Given the description of an element on the screen output the (x, y) to click on. 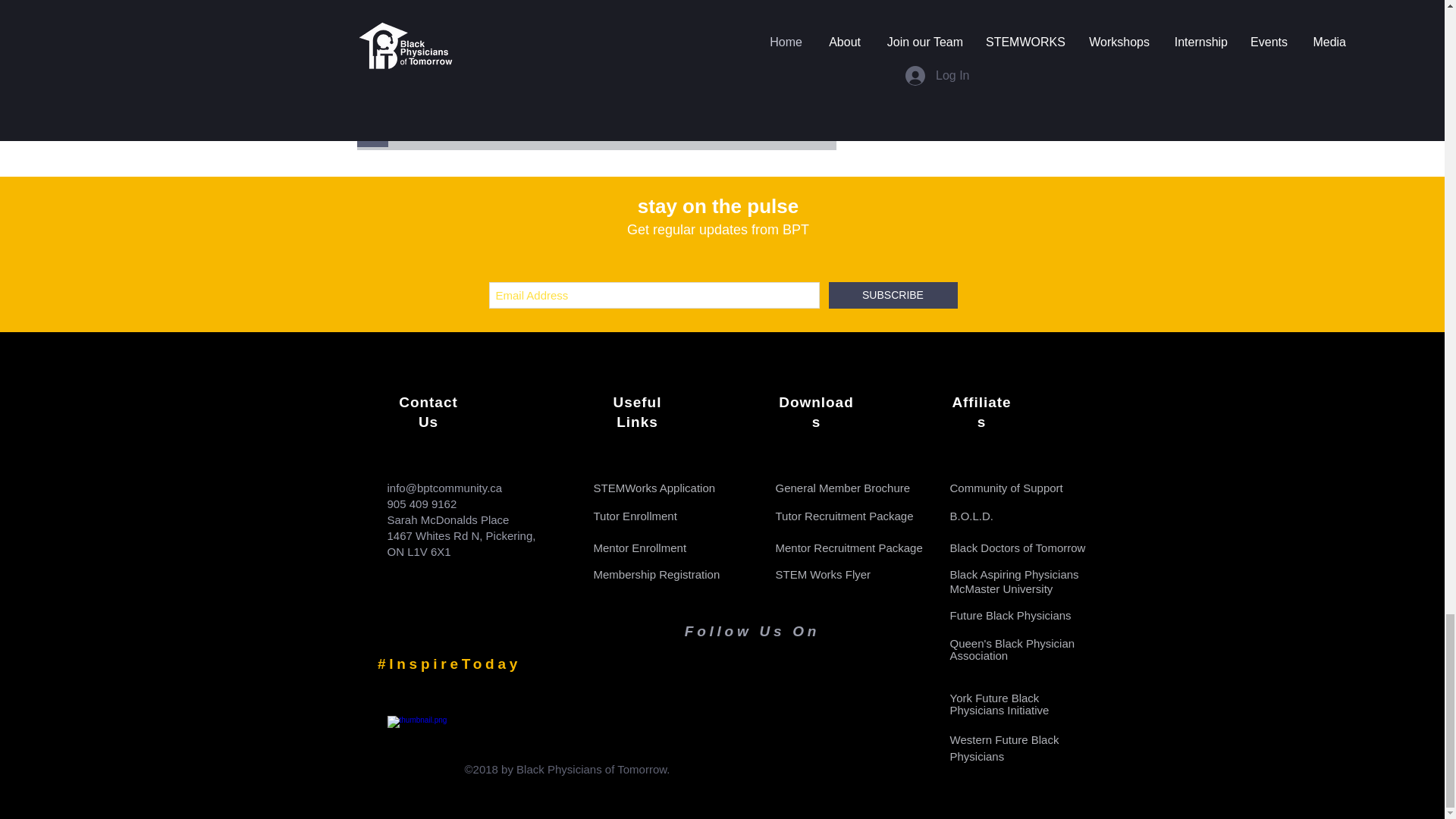
Mentor Recruitment Package (847, 547)
General Member Brochure (842, 487)
External YouTube (514, 65)
Mentor Enrollment (638, 547)
Membership Registration (655, 574)
SUBSCRIBE (892, 294)
STEMWorks Application (653, 487)
Community of Support (1005, 487)
STEM Works Flyer (822, 574)
B.O.L.D. (970, 515)
